Given the description of an element on the screen output the (x, y) to click on. 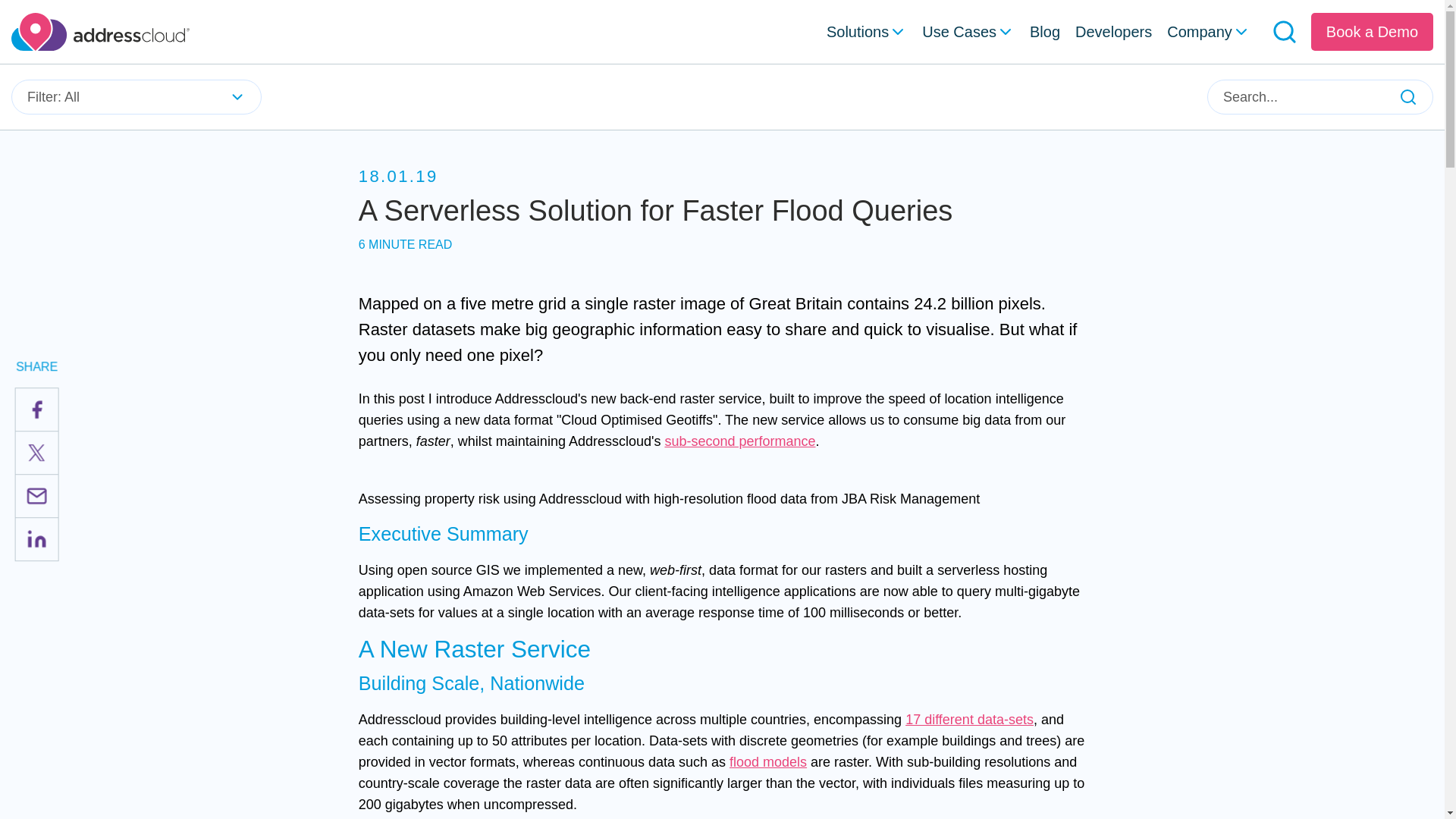
Company (1208, 31)
17 different data-sets (969, 719)
Book a Demo (1371, 31)
Solutions (867, 31)
flood models (767, 761)
Blog (1044, 30)
Use Cases (967, 31)
sub-second performance (739, 441)
Developers (1113, 30)
